Given the description of an element on the screen output the (x, y) to click on. 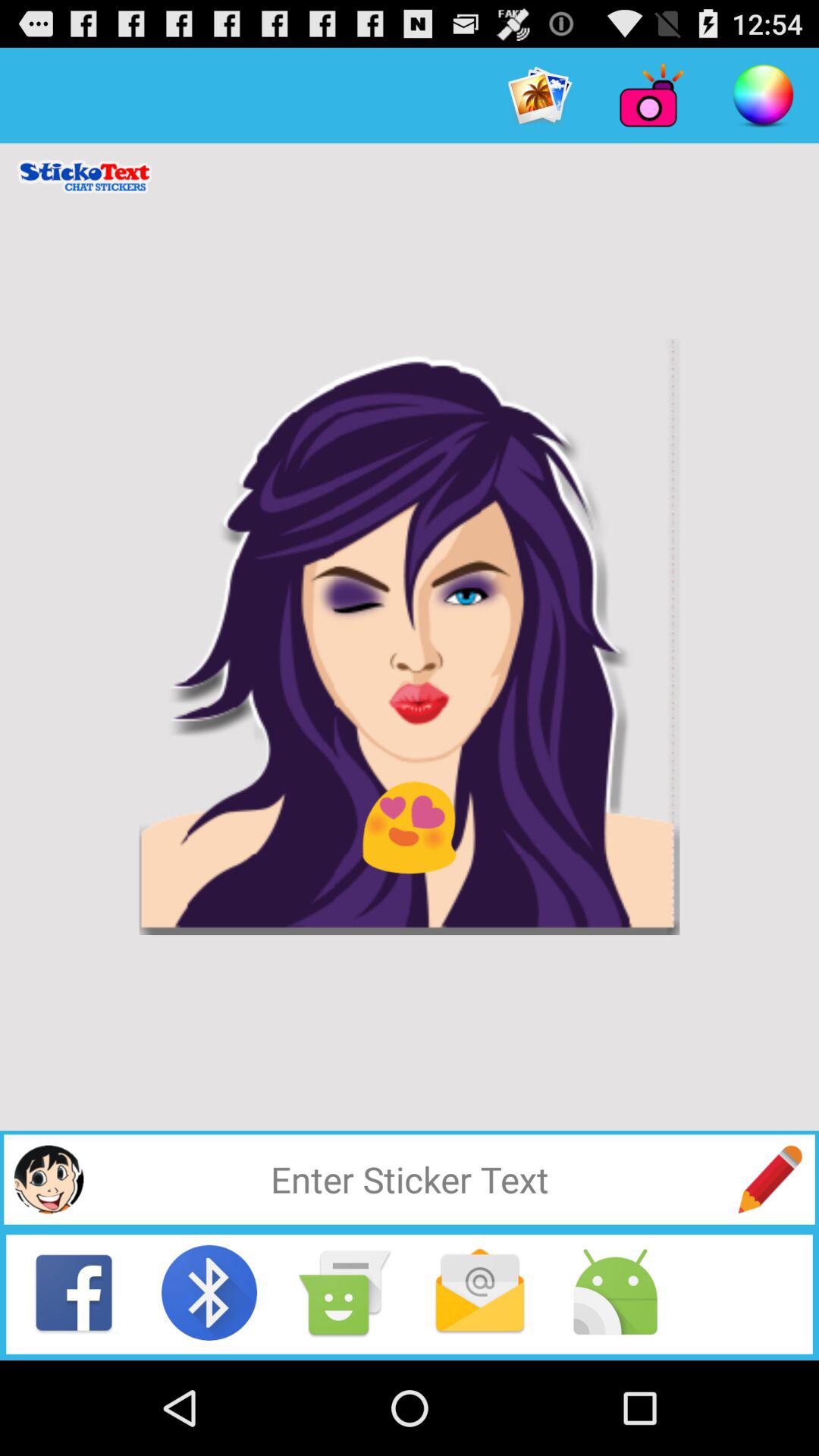
select the icon beside the text enter sticker text (769, 1179)
click on sticker (49, 1179)
select the mail icon (479, 1292)
click on the enter sticker text text field (409, 1179)
select the icon next to bluetooth icon (345, 1292)
